Given the description of an element on the screen output the (x, y) to click on. 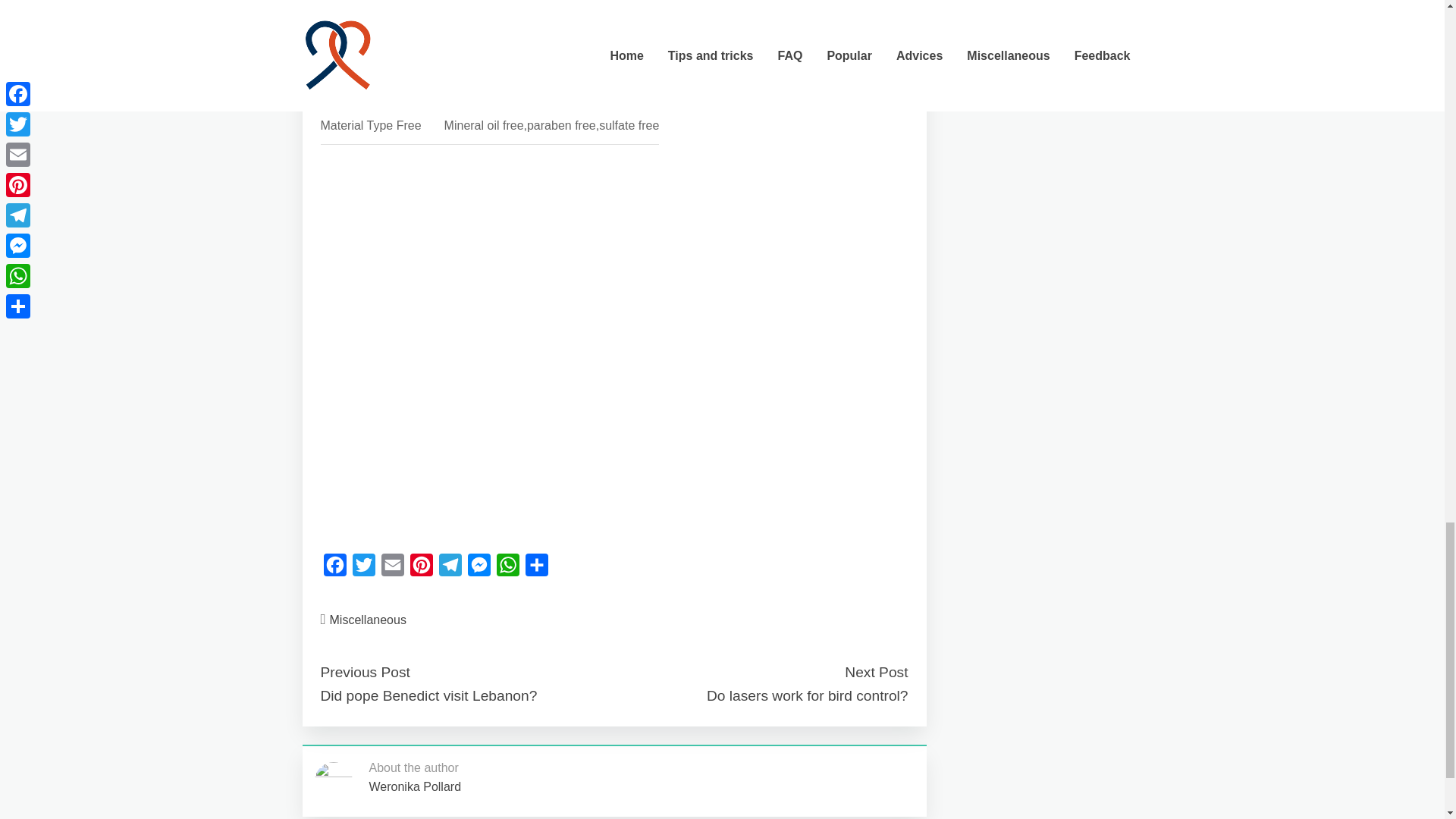
Did pope Benedict visit Lebanon? (428, 695)
Messenger (478, 568)
Next Post (875, 672)
Miscellaneous (368, 619)
Telegram (449, 568)
Weronika Pollard (414, 786)
Pinterest (420, 568)
Email (391, 568)
Do lasers work for bird control? (807, 695)
Previous Post (364, 672)
Twitter (363, 568)
Twitter (363, 568)
Facebook (334, 568)
Messenger (478, 568)
Email (391, 568)
